Given the description of an element on the screen output the (x, y) to click on. 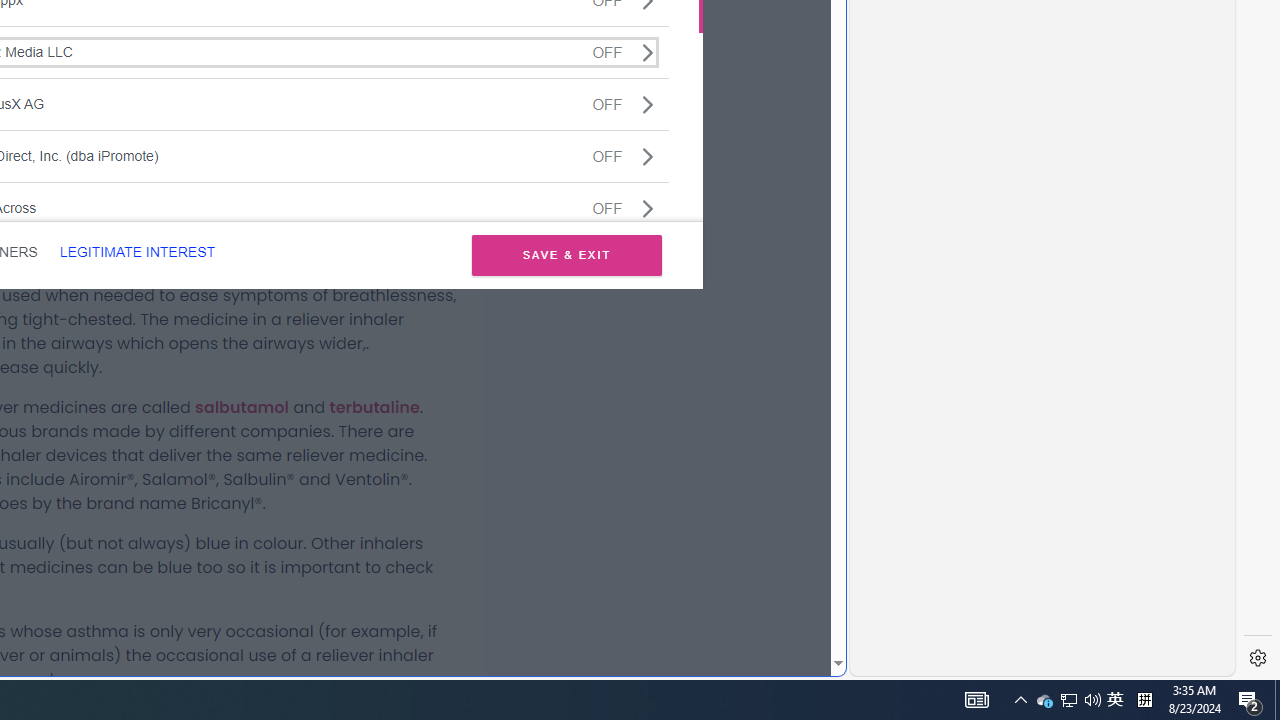
LEGITIMATE INTEREST (137, 251)
Class: css-jswnc6 (648, 208)
terbutaline (373, 407)
Settings (1258, 658)
salbutamol (241, 407)
SAVE & EXIT (566, 254)
